Given the description of an element on the screen output the (x, y) to click on. 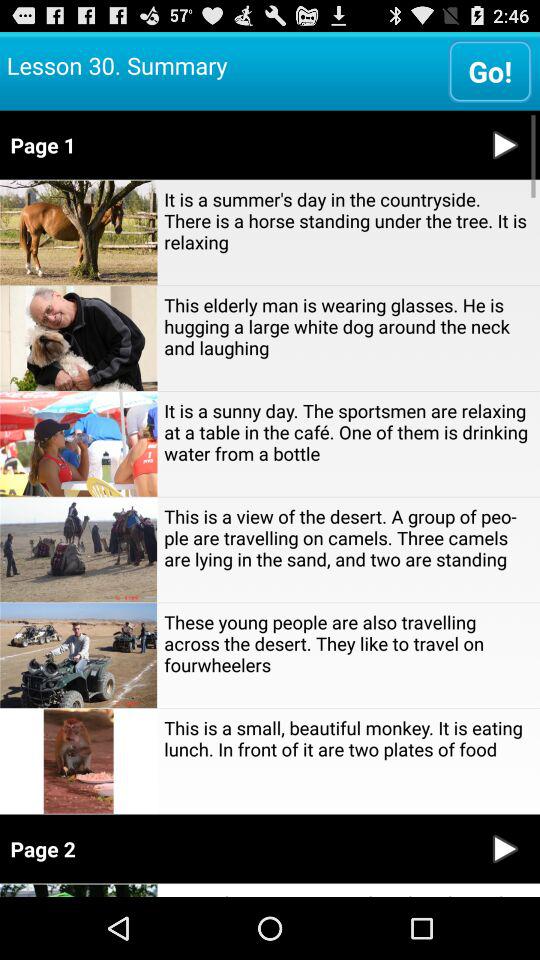
flip to page 1 (235, 144)
